Given the description of an element on the screen output the (x, y) to click on. 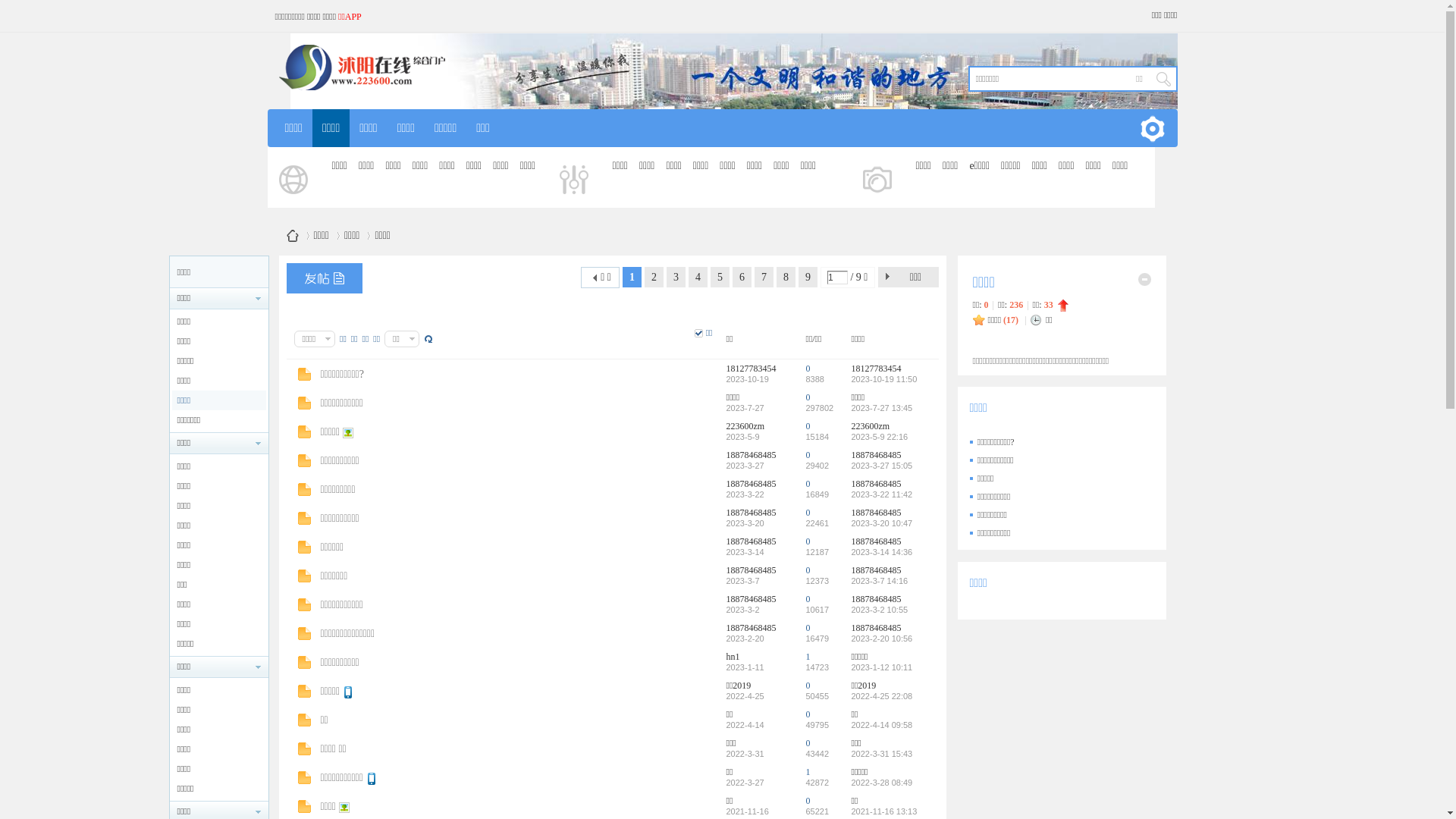
9 Element type: text (807, 276)
hn1 Element type: text (733, 656)
2022-4-14 09:58 Element type: text (881, 724)
0 Element type: text (807, 800)
2023-3-27 15:05 Element type: text (881, 465)
0 Element type: text (807, 512)
1 Element type: text (807, 656)
0 Element type: text (807, 685)
2022-3-28 08:49 Element type: text (881, 782)
0 Element type: text (807, 714)
0 Element type: text (807, 541)
18878468485 Element type: text (875, 541)
2 Element type: text (653, 276)
2022-4-25 22:08 Element type: text (881, 695)
18878468485 Element type: text (751, 627)
0 Element type: text (807, 483)
0 Element type: text (807, 742)
223600zm Element type: text (745, 425)
0 Element type: text (807, 368)
18878468485 Element type: text (875, 627)
8 Element type: text (785, 276)
18878468485 Element type: text (751, 598)
18878468485 Element type: text (875, 569)
0 Element type: text (807, 425)
18878468485 Element type: text (875, 598)
   Element type: text (1163, 78)
4 Element type: text (697, 276)
2023-7-27 13:45 Element type: text (881, 407)
0 Element type: text (807, 598)
2023-1-12 10:11 Element type: text (881, 666)
2021-11-16 13:13 Element type: text (883, 810)
18878468485 Element type: text (751, 512)
5 Element type: text (719, 276)
2023-5-9 22:16 Element type: text (878, 436)
2023-3-20 10:47 Element type: text (881, 522)
2023-3-14 14:36 Element type: text (881, 551)
3 Element type: text (675, 276)
18878468485 Element type: text (875, 483)
18878468485 Element type: text (751, 541)
2023-2-20 10:56 Element type: text (881, 638)
18878468485 Element type: text (751, 569)
18878468485 Element type: text (875, 454)
18127783454 Element type: text (875, 368)
7 Element type: text (763, 276)
18878468485 Element type: text (751, 483)
2023-3-22 11:42 Element type: text (881, 493)
2022-3-31 15:43 Element type: text (881, 753)
0 Element type: text (807, 397)
0 Element type: text (807, 454)
1 Element type: text (807, 771)
223600zm Element type: text (869, 425)
0 Element type: text (807, 569)
6 Element type: text (741, 276)
0 Element type: text (807, 627)
2023-10-19 11:50 Element type: text (883, 378)
18127783454 Element type: text (751, 368)
18878468485 Element type: text (751, 454)
2023-3-7 14:16 Element type: text (878, 580)
18878468485 Element type: text (875, 512)
2023-3-2 10:55 Element type: text (878, 609)
